Given the description of an element on the screen output the (x, y) to click on. 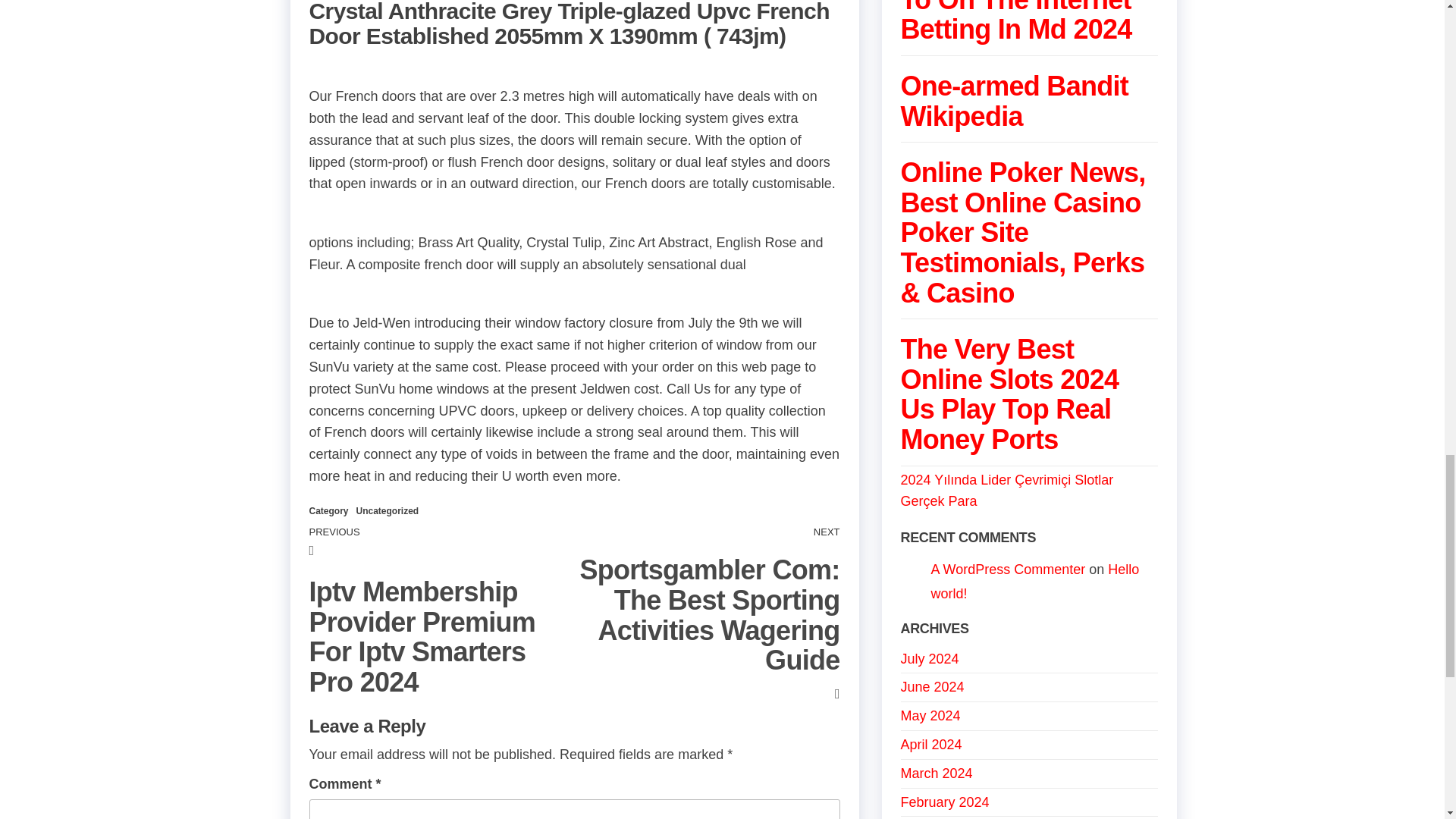
Uncategorized (387, 511)
